Given the description of an element on the screen output the (x, y) to click on. 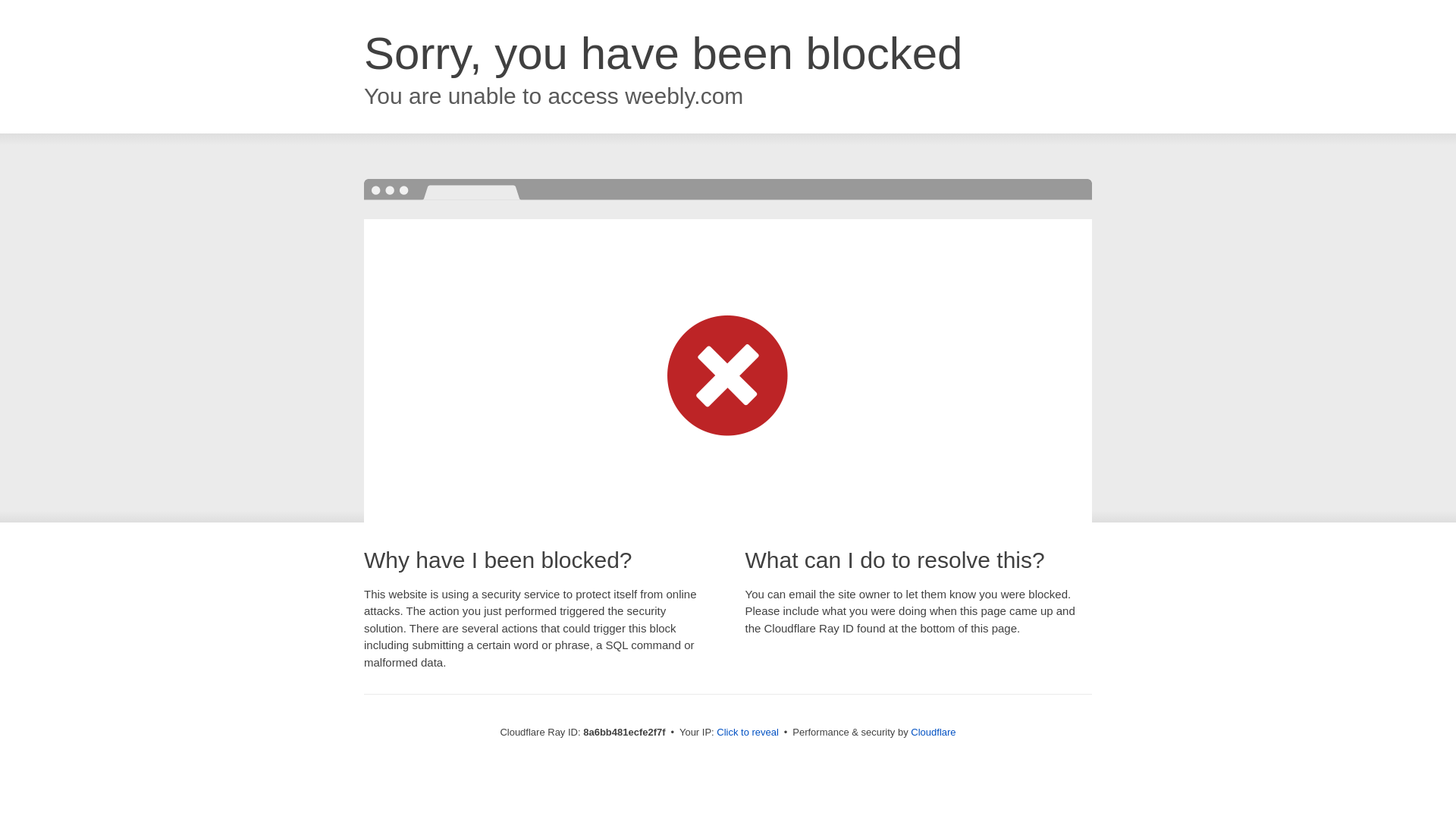
Click to reveal (747, 732)
Cloudflare (933, 731)
